Given the description of an element on the screen output the (x, y) to click on. 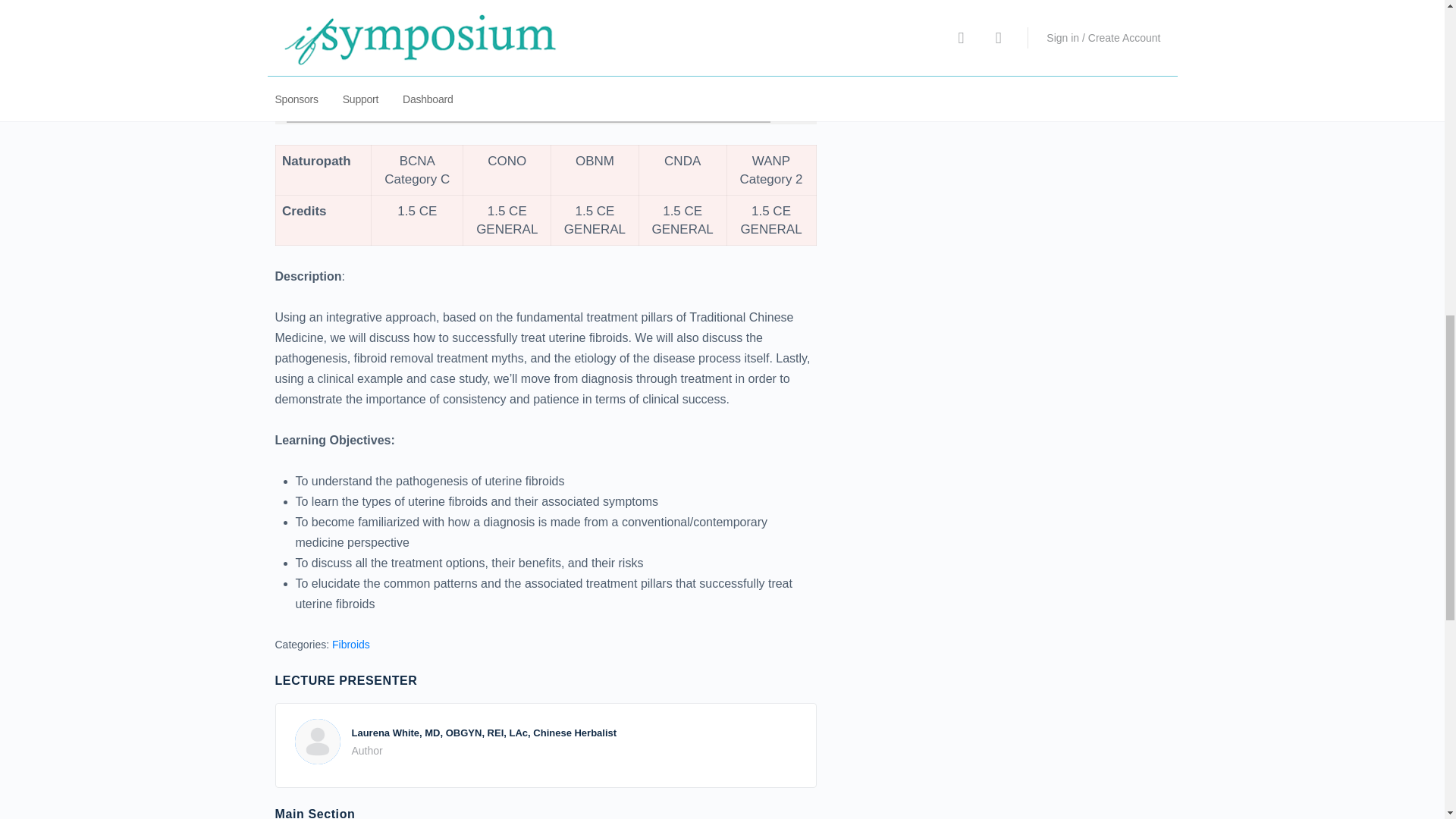
Laurena White, MD, OBGYN, REI, LAc, Chinese Herbalist (484, 732)
Fibroids (350, 644)
